Given the description of an element on the screen output the (x, y) to click on. 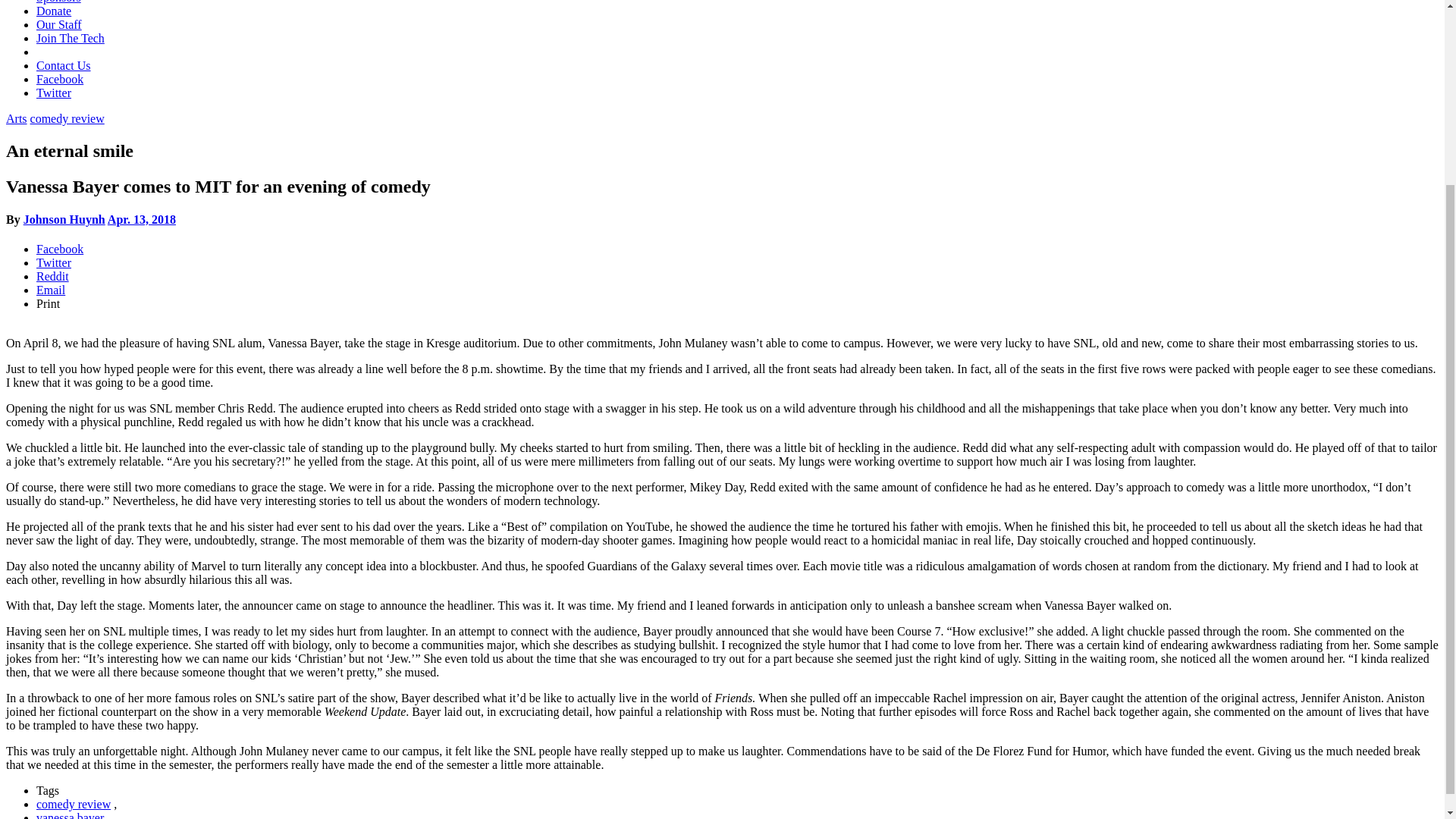
Arts (16, 118)
Join The Tech (70, 38)
Johnson Huynh (63, 219)
Donate (53, 10)
Sponsors (58, 2)
comedy review (67, 118)
Email (50, 289)
Contact Us (63, 65)
Print (47, 303)
comedy review (73, 803)
